Given the description of an element on the screen output the (x, y) to click on. 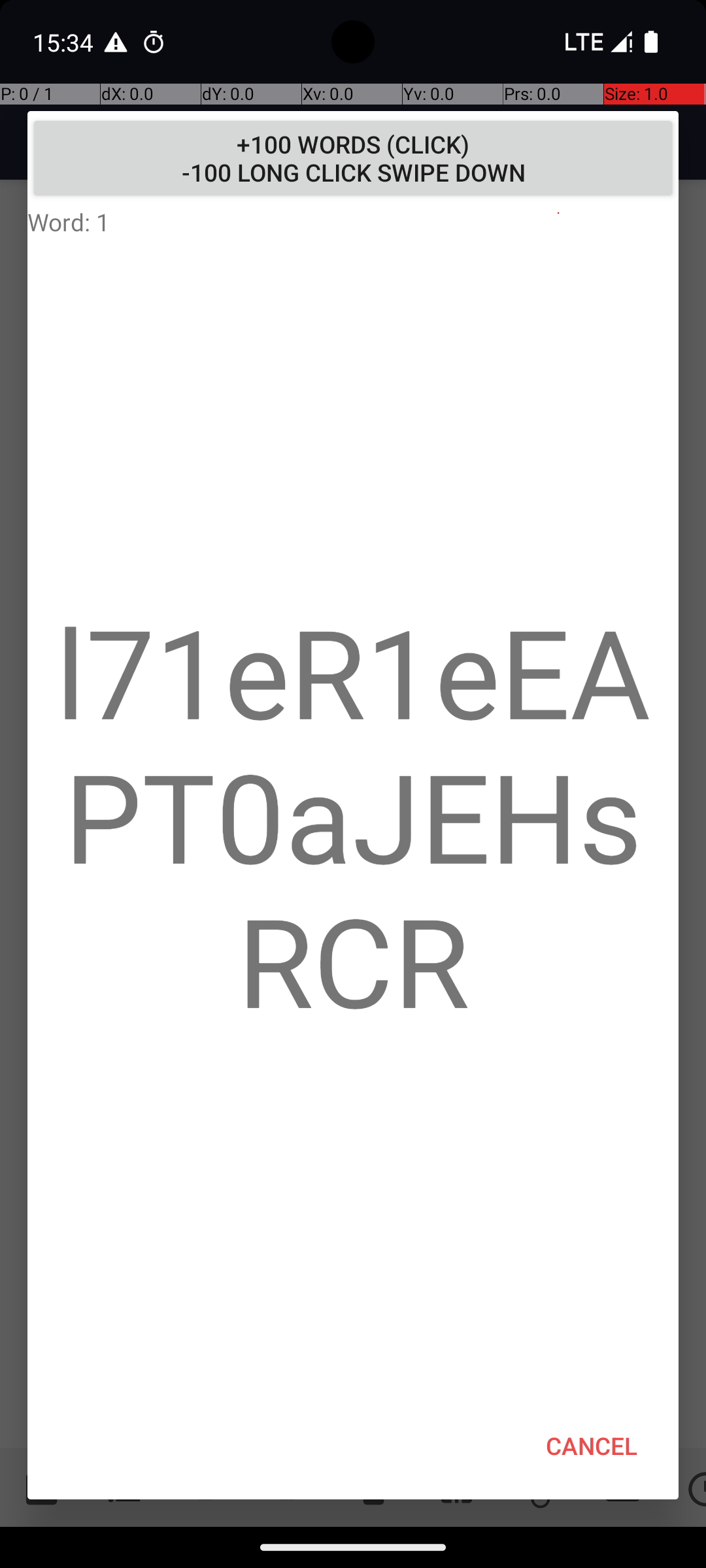
+100 WORDS (CLICK)
-100 LONG CLICK SWIPE DOWN Element type: android.widget.Button (352, 158)
Word: 1 Element type: android.widget.TextView (352, 221)
l71eR1eEAPT0aJEHsRCR Element type: android.widget.TextView (352, 815)
